Given the description of an element on the screen output the (x, y) to click on. 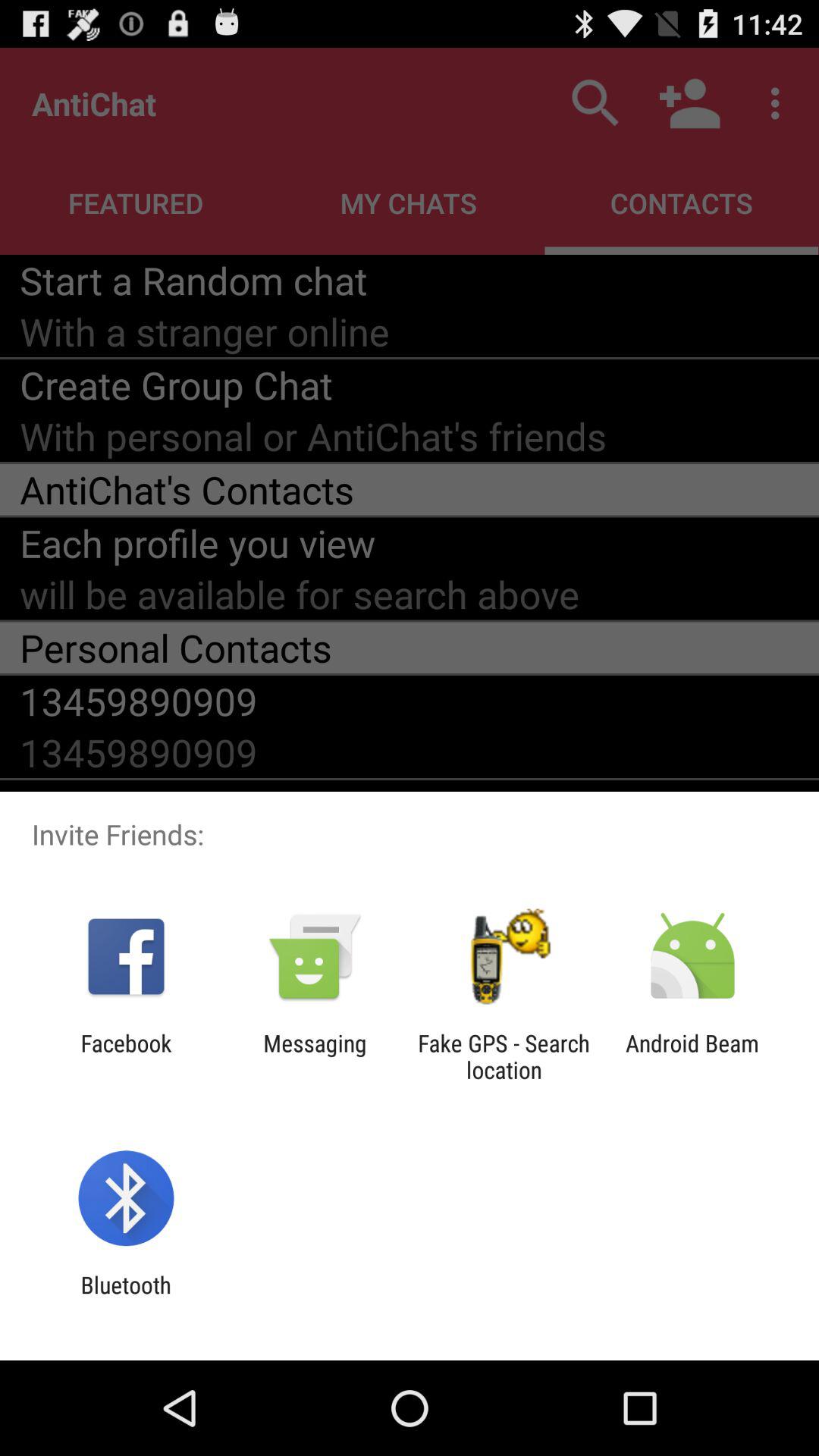
select icon to the left of the messaging item (125, 1056)
